Given the description of an element on the screen output the (x, y) to click on. 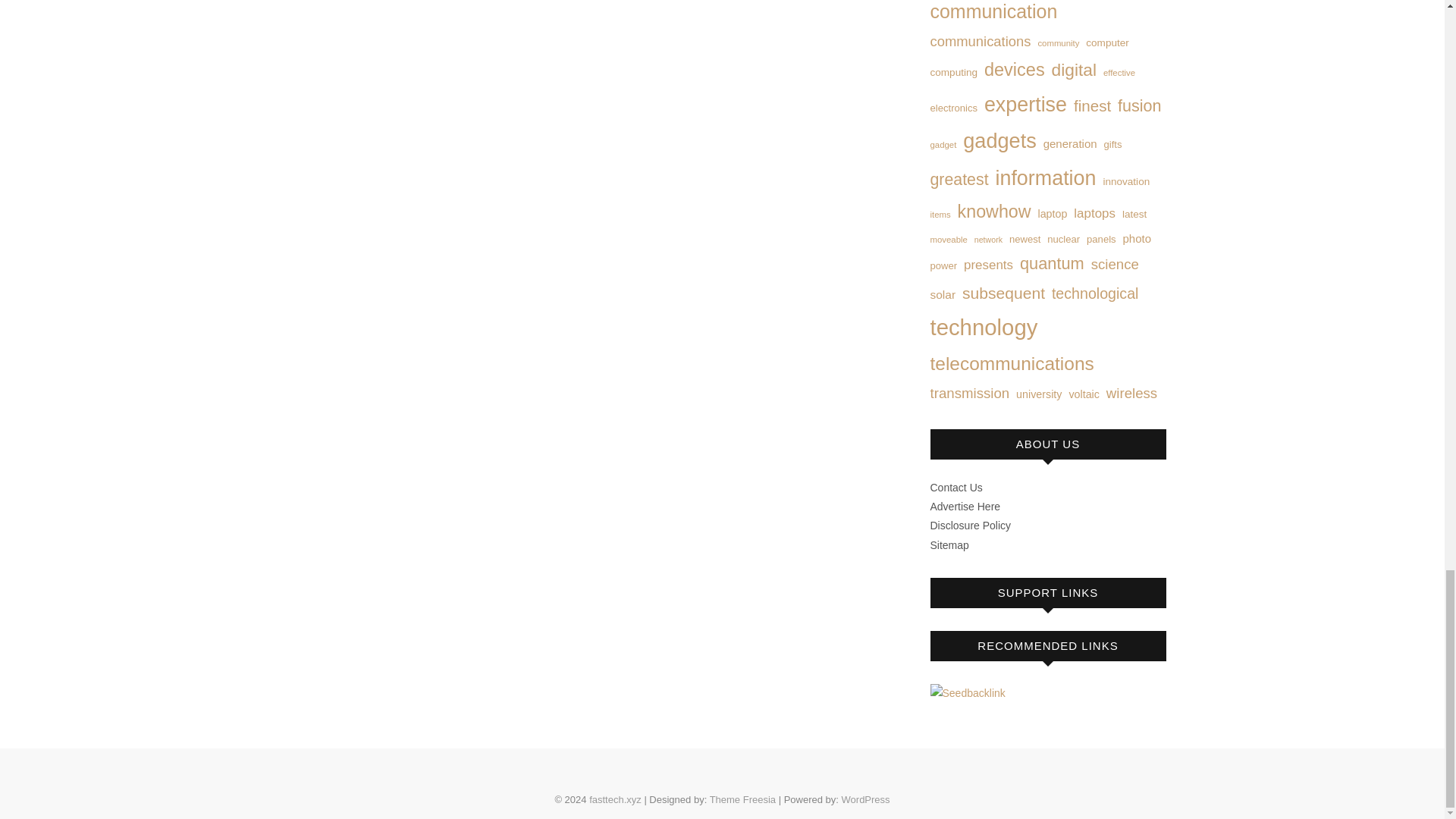
Seedbacklink (967, 692)
Theme Freesia (743, 799)
fasttech.xyz (615, 799)
WordPress (865, 799)
